Given the description of an element on the screen output the (x, y) to click on. 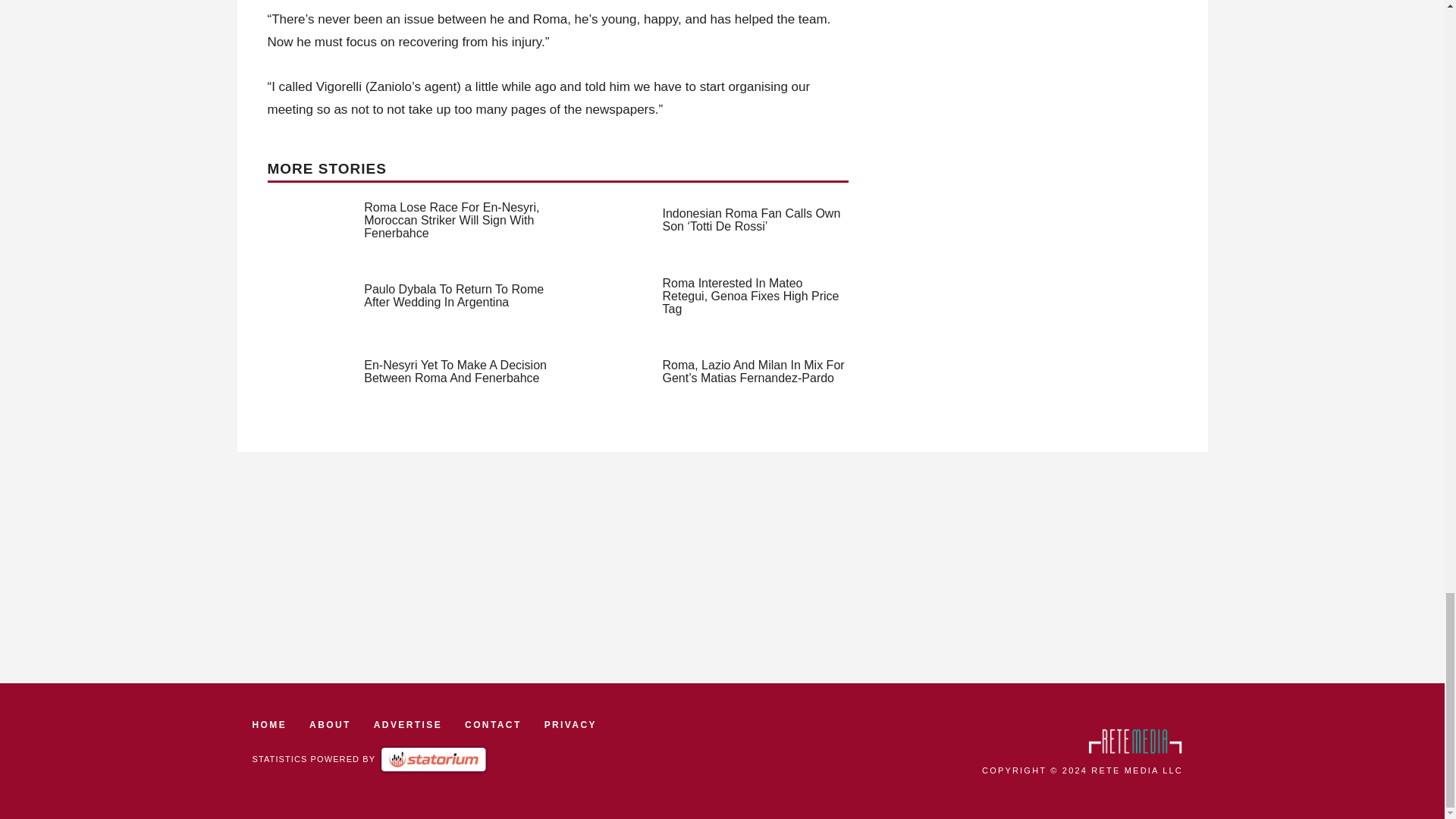
ADVERTISE (408, 725)
Paulo Dybala To Return To Rome After Wedding In Argentina (453, 295)
ABOUT (329, 725)
HOME (268, 725)
Roma Interested In Mateo Retegui, Genoa Fixes High Price Tag (751, 295)
PRIVACY (570, 725)
En-Nesyri Yet To Make A Decision Between Roma And Fenerbahce (455, 371)
CONTACT (492, 725)
